Given the description of an element on the screen output the (x, y) to click on. 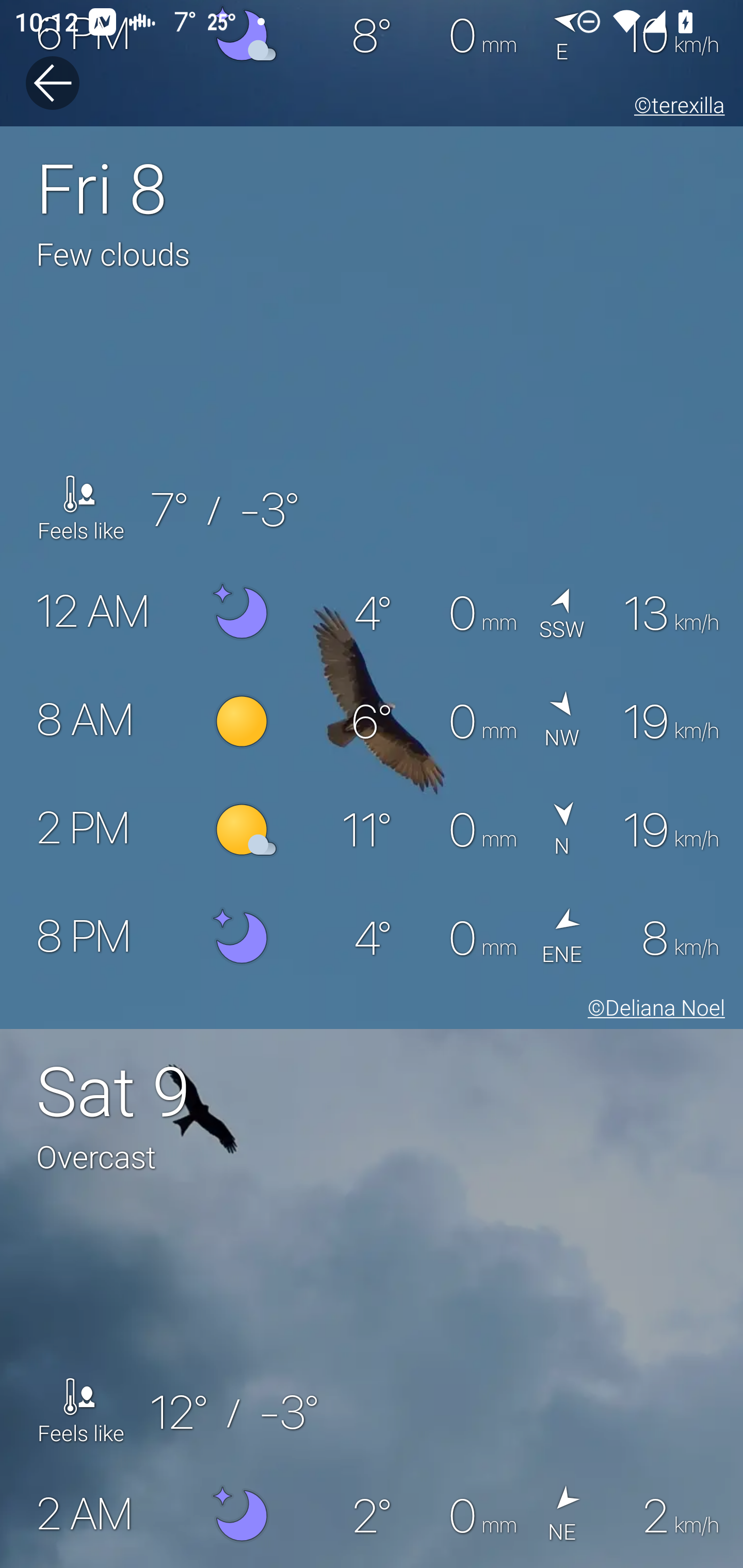
©terexilla (676, 108)
12 AM 4° 0 mm  SSW 13 km/h (371, 613)
8 AM 6° 0 mm  NW 19 km/h (371, 721)
2 PM 11° 0 mm  N 19 km/h (371, 830)
8 PM 4° 0 mm  ENE 8 km/h (371, 938)
©Deliana Noel (652, 1010)
2 AM 2° 0 mm  NE 2 km/h (371, 1514)
